Given the description of an element on the screen output the (x, y) to click on. 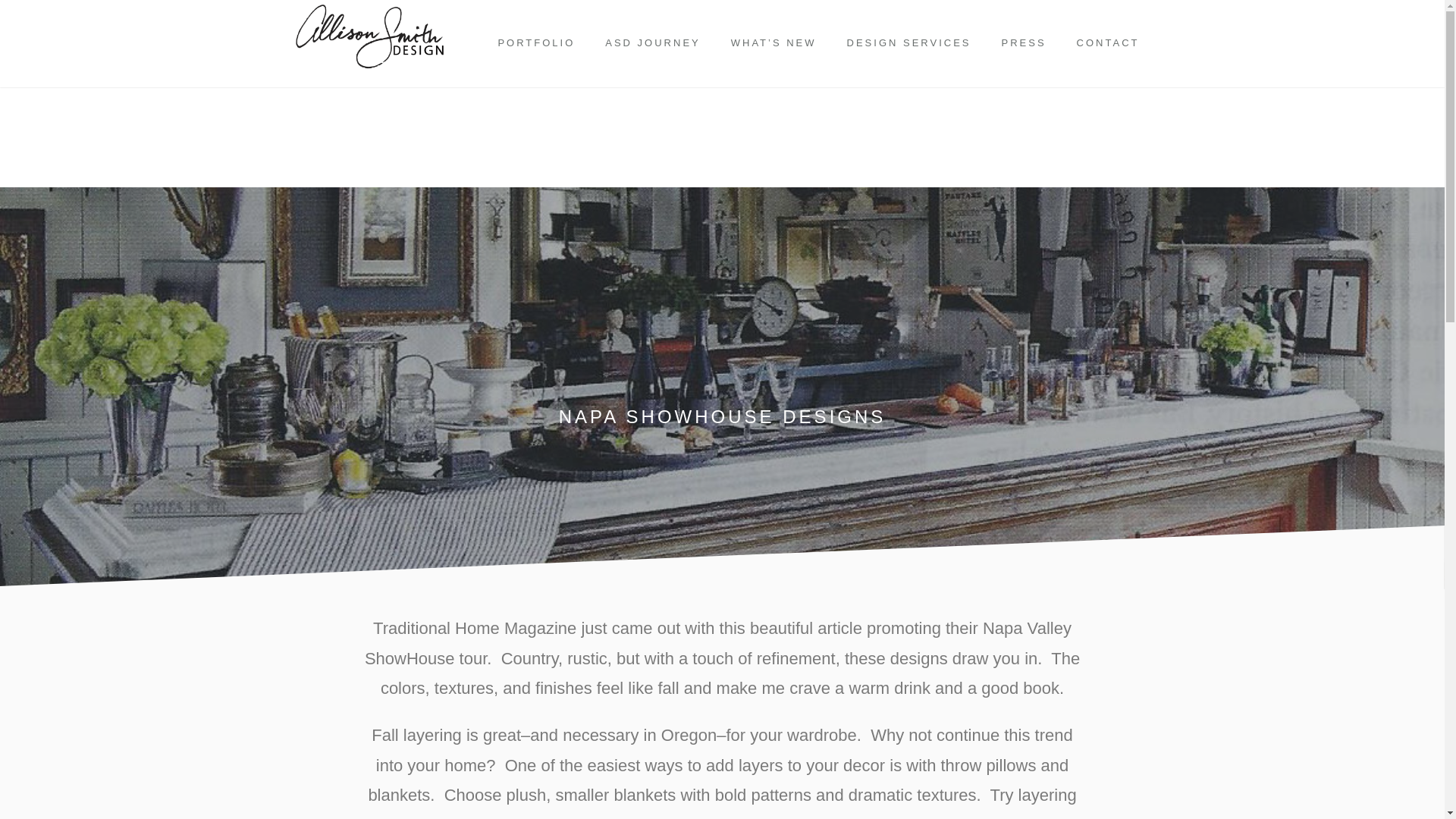
PRESS (1024, 42)
DESIGN SERVICES (909, 42)
ASD JOURNEY (651, 42)
CONTACT (1107, 42)
PORTFOLIO (535, 42)
